Given the description of an element on the screen output the (x, y) to click on. 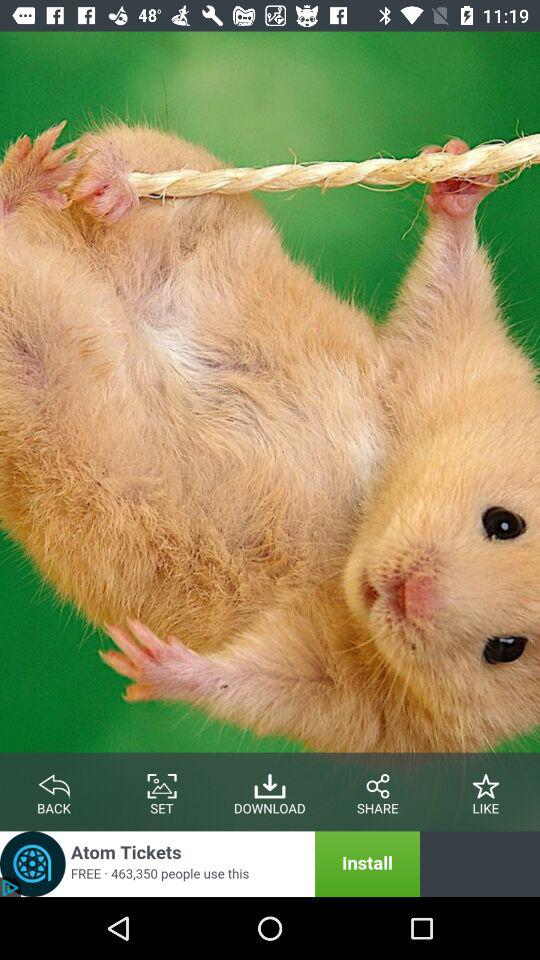
download option (269, 782)
